Given the description of an element on the screen output the (x, y) to click on. 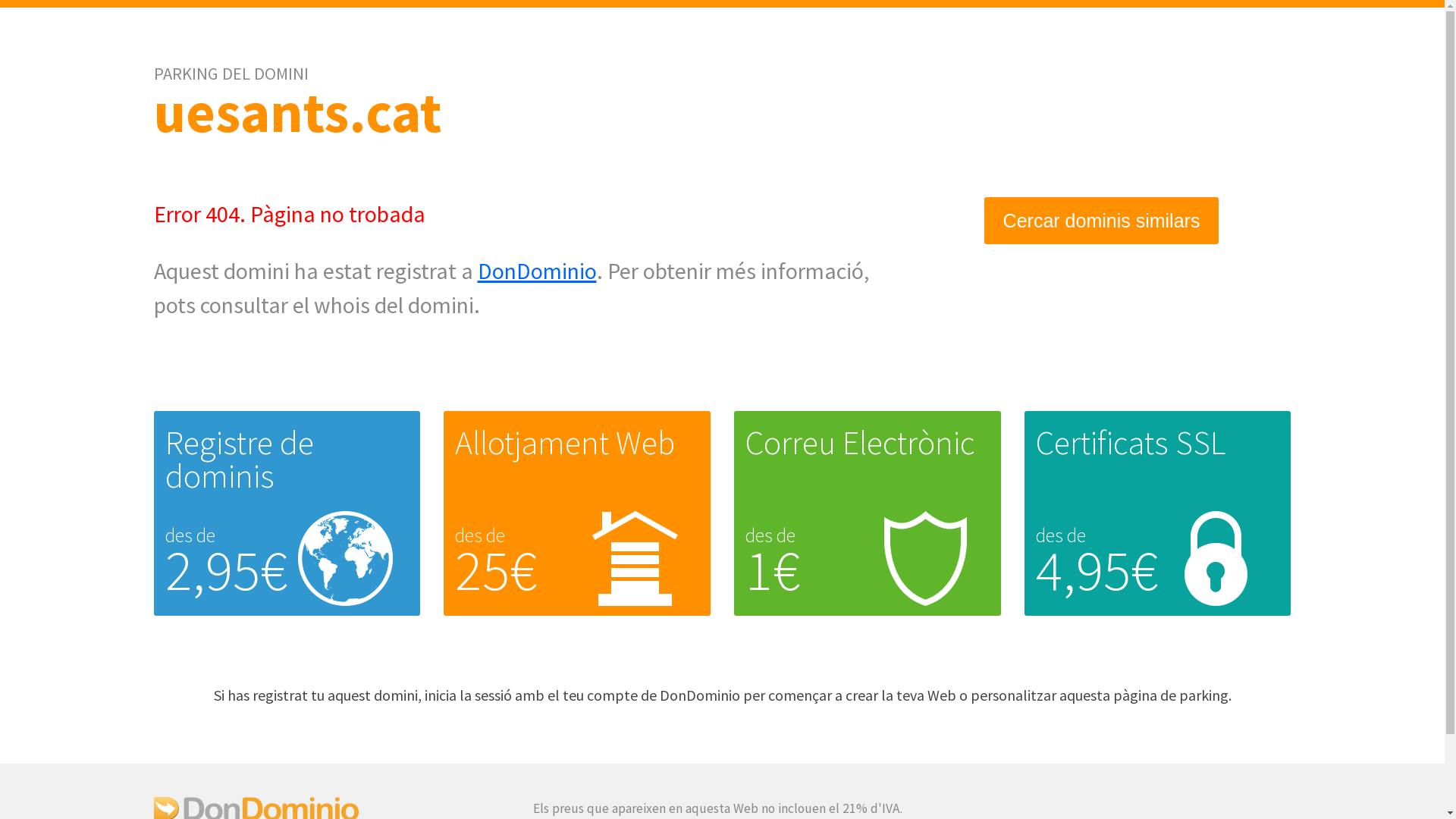
DonDominio Element type: text (536, 270)
Cercar dominis similars Element type: text (1101, 220)
Allotjament Web Element type: text (564, 442)
Certificats SSL Element type: text (1130, 442)
Registre de dominis Element type: text (239, 458)
